Given the description of an element on the screen output the (x, y) to click on. 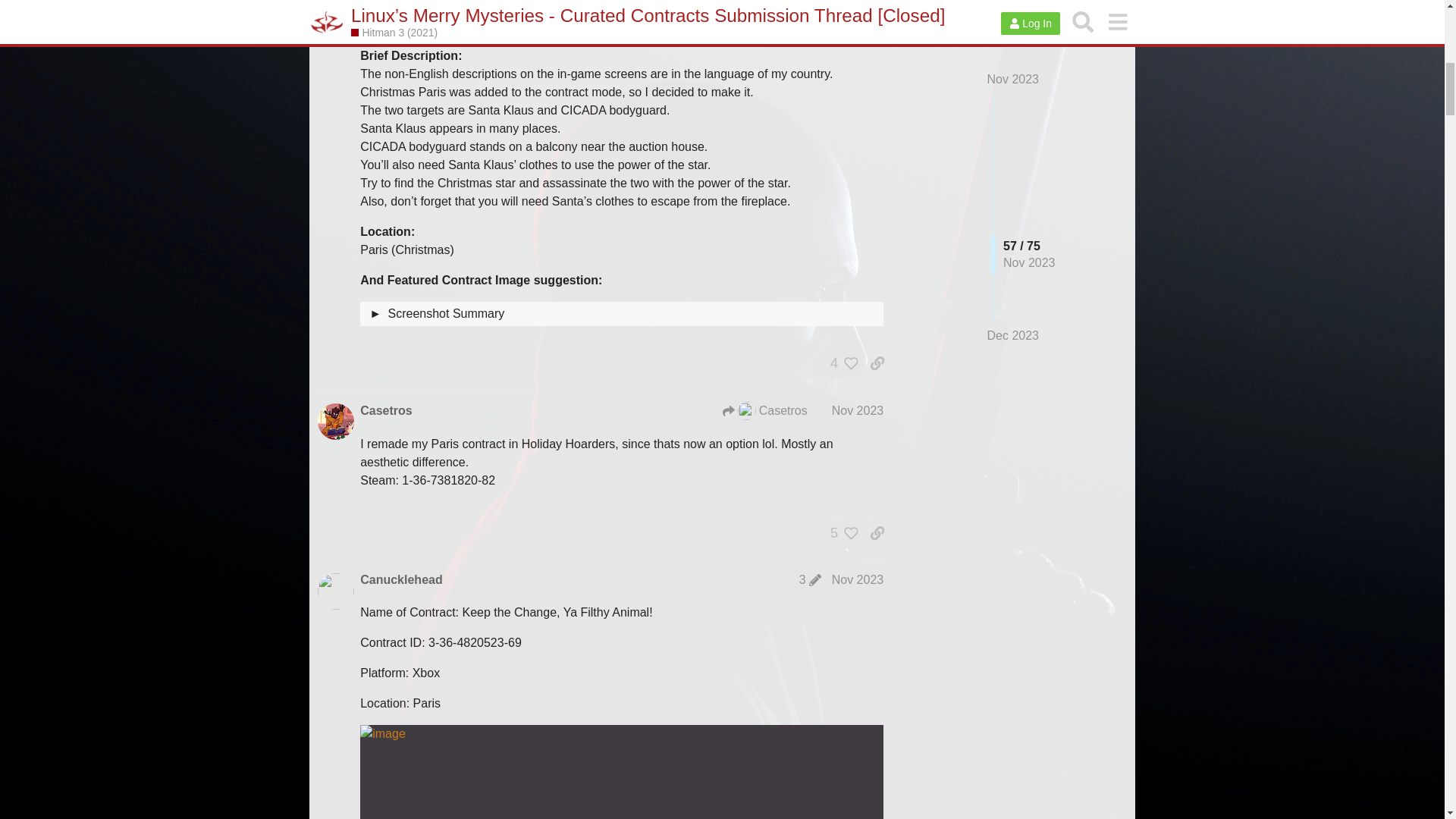
Casetros (385, 410)
4 (840, 362)
Nov 2023 (857, 410)
Casetros (765, 411)
5 (840, 533)
Canucklehead (400, 579)
